Given the description of an element on the screen output the (x, y) to click on. 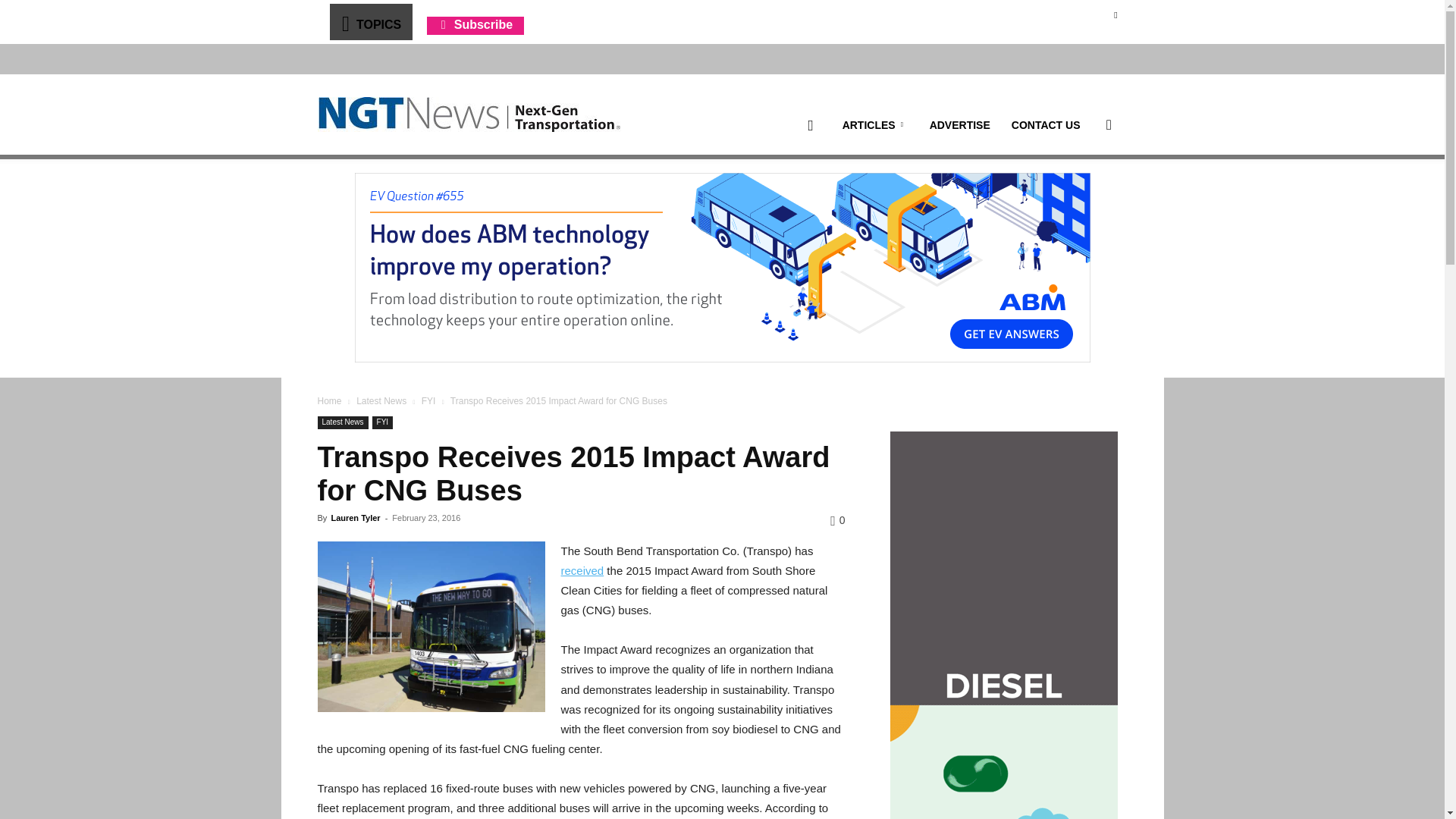
TOPICS (370, 22)
NGT News (468, 114)
Twitter (1114, 14)
Alternative Fuel News, CNG News (468, 114)
Subscribe (475, 24)
Search (1085, 197)
ARTICLES (874, 124)
